Given the description of an element on the screen output the (x, y) to click on. 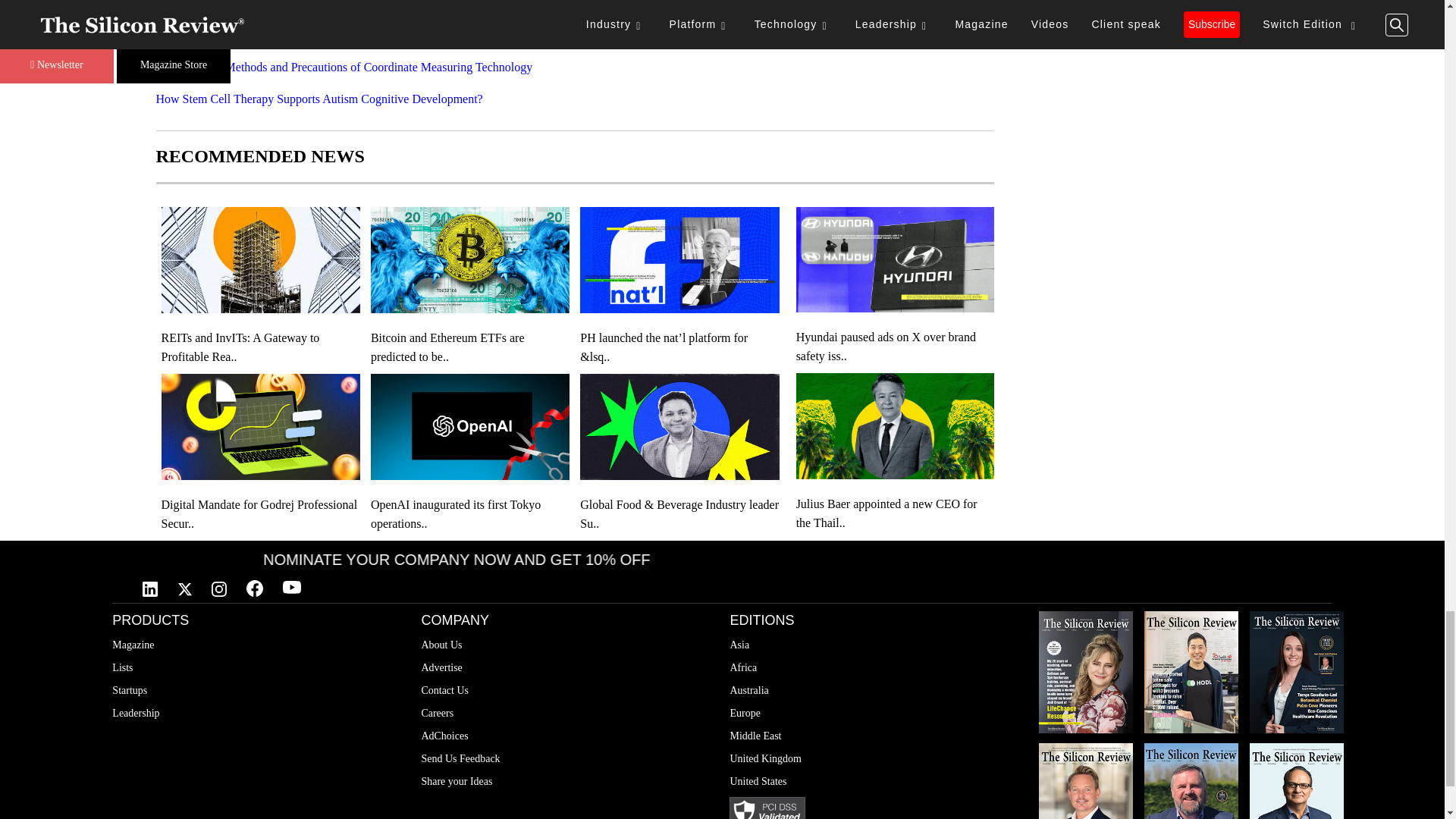
OpenAI inaugurated its first Tokyo operations center (470, 514)
Hyundai paused ads on X over brand safety issues (895, 346)
